Given the description of an element on the screen output the (x, y) to click on. 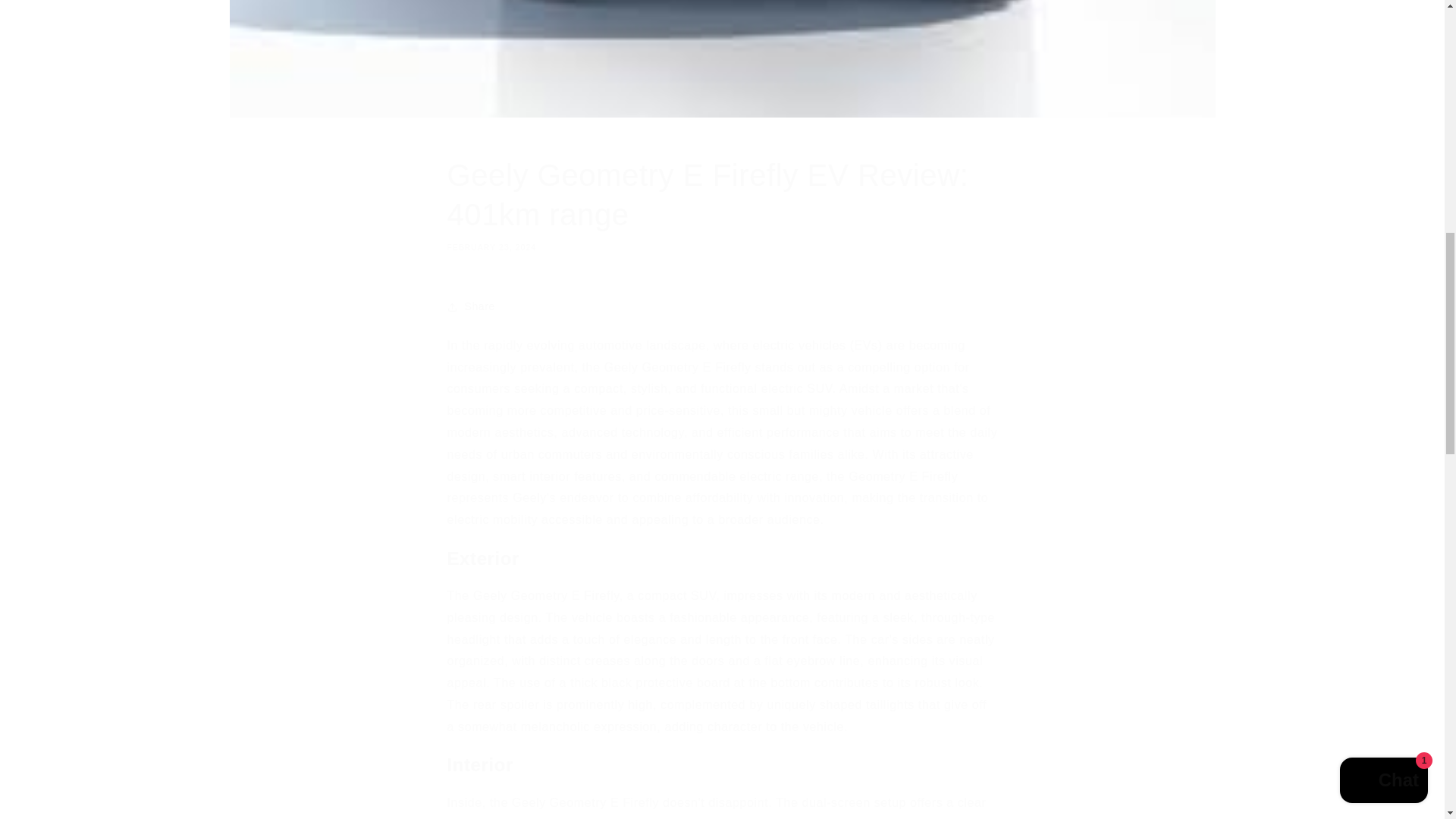
Share (721, 306)
